Given the description of an element on the screen output the (x, y) to click on. 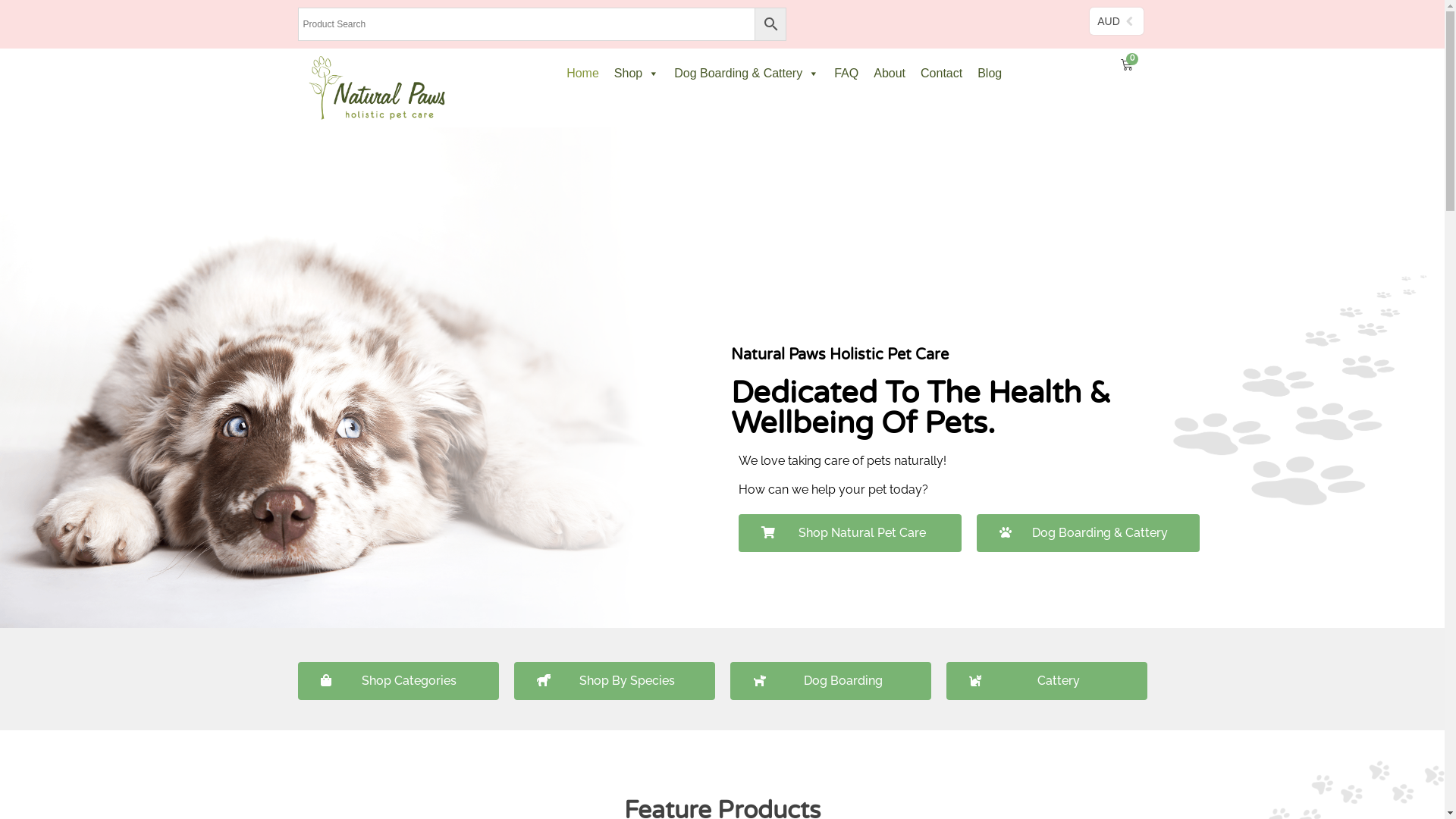
Cattery Element type: text (1046, 680)
About Element type: text (889, 73)
Shop By Species Element type: text (614, 680)
Shop Natural Pet Care Element type: text (849, 533)
Home Element type: text (582, 73)
Dog Boarding & Cattery Element type: text (746, 73)
Shop Element type: text (636, 73)
Dog Boarding Element type: text (829, 680)
FAQ Element type: text (846, 73)
Contact Element type: text (941, 73)
Dog Boarding & Cattery Element type: text (1087, 533)
Blog Element type: text (989, 73)
Shop Categories Element type: text (397, 680)
0 Element type: text (1126, 64)
